Given the description of an element on the screen output the (x, y) to click on. 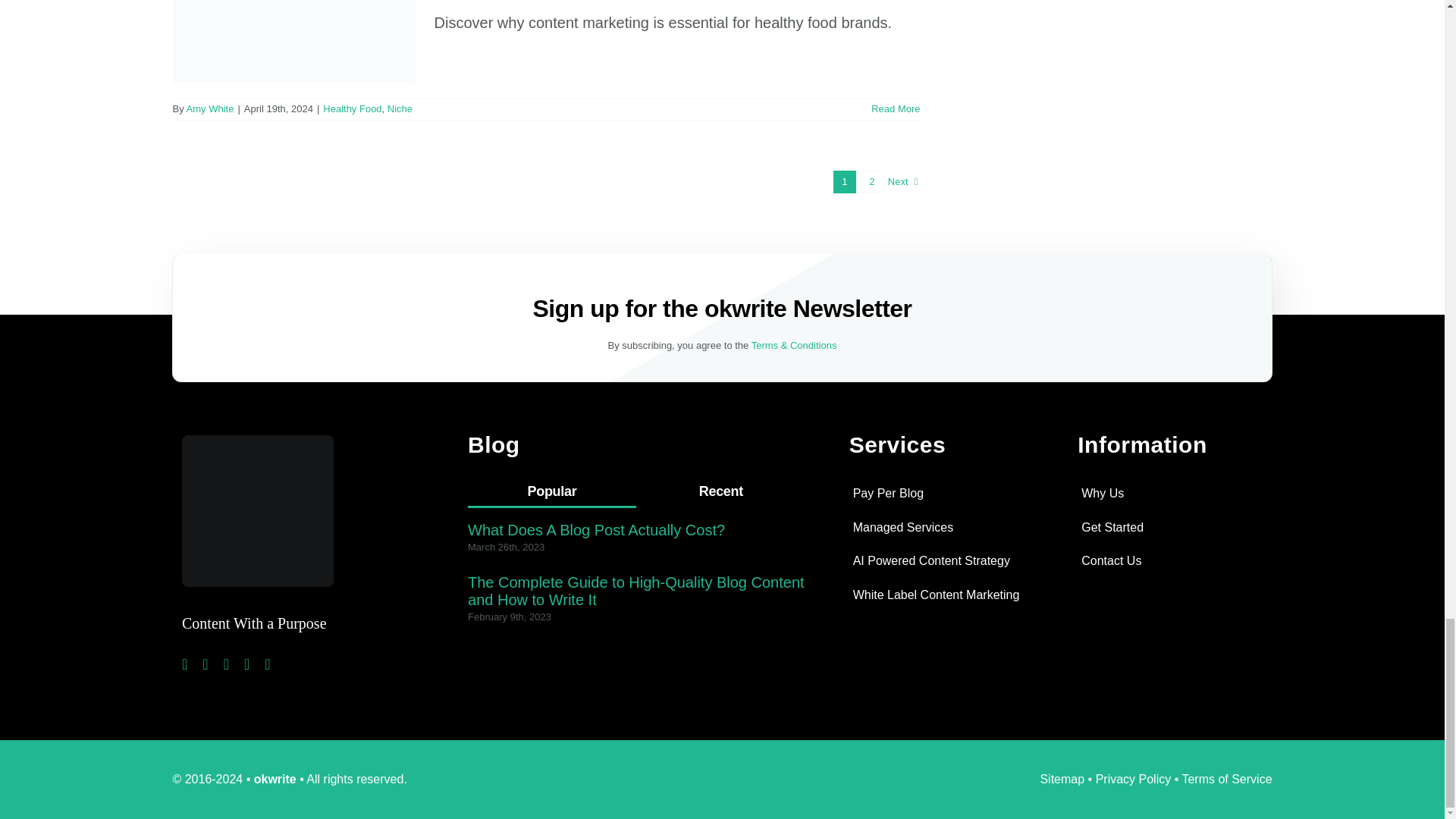
Posts by Amy White (210, 108)
